Given the description of an element on the screen output the (x, y) to click on. 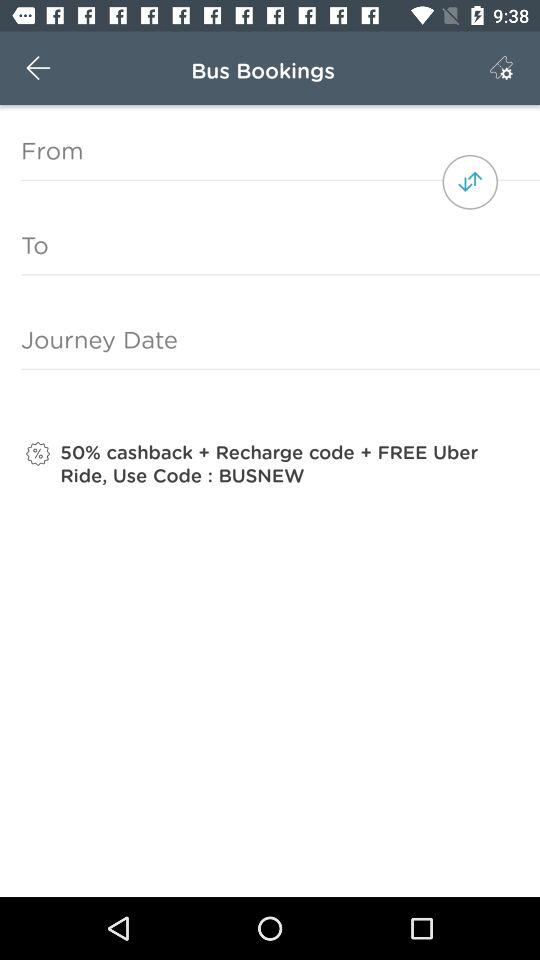
turn on the item next to bus bookings item (501, 68)
